Given the description of an element on the screen output the (x, y) to click on. 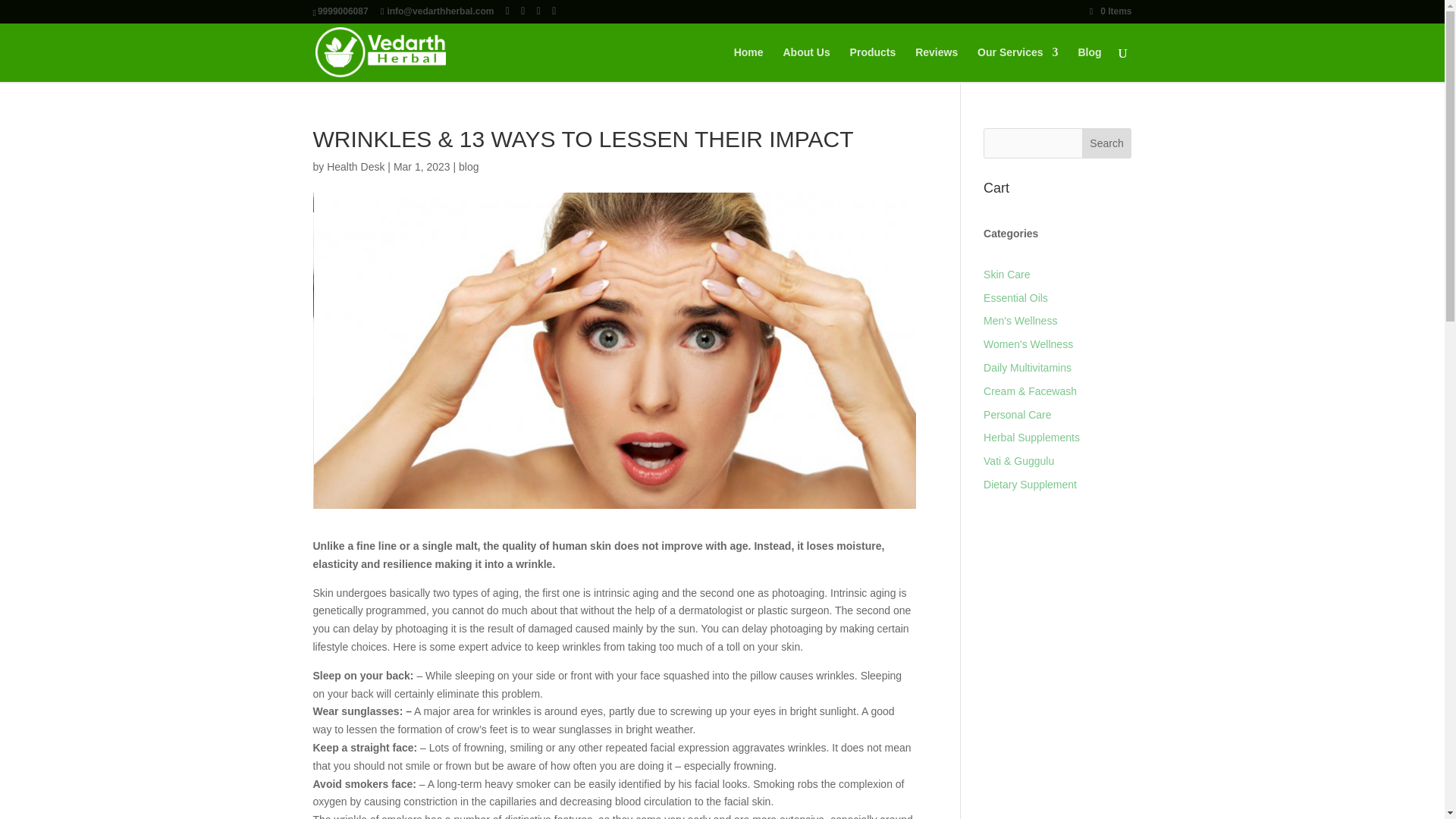
Dietary Supplement (1030, 484)
Products (873, 63)
Health Desk (355, 166)
About Us (806, 63)
Search (1106, 142)
Women's Wellness (1028, 344)
Essential Oils (1016, 297)
Skin Care (1006, 274)
Daily Multivitamins (1027, 367)
Posts by Health Desk (355, 166)
Reviews (936, 63)
Personal Care (1017, 414)
blog (468, 166)
0 Items (1110, 10)
Men's Wellness (1020, 320)
